Given the description of an element on the screen output the (x, y) to click on. 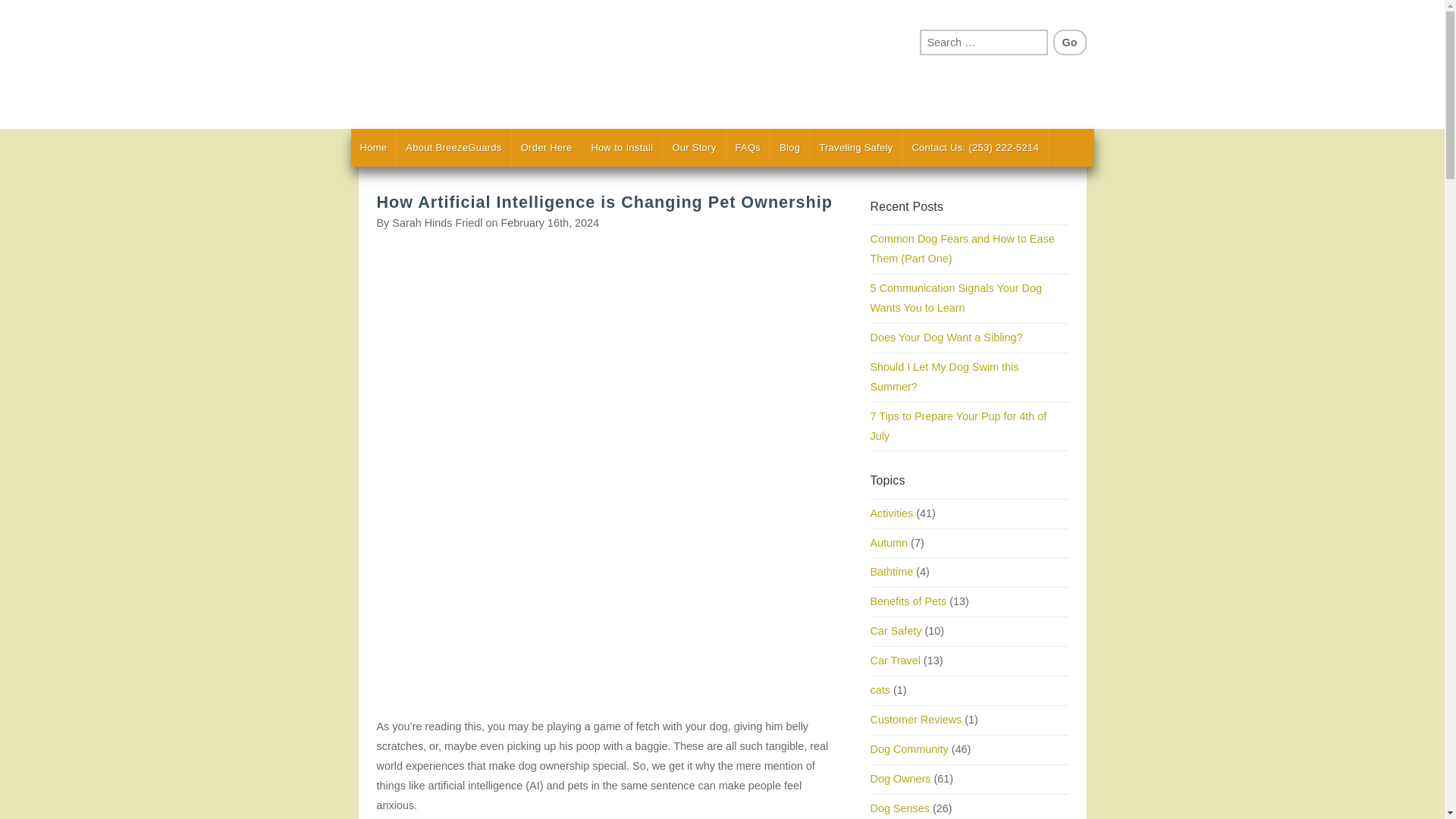
Activities (892, 512)
Car Safety (895, 630)
Traveling Safely (855, 147)
Dog Owners (900, 778)
Go (1069, 42)
5 Communication Signals Your Dog Wants You to Learn (956, 297)
cats (879, 689)
Dog Community (909, 748)
Blog (789, 147)
How to Install (621, 147)
